Given the description of an element on the screen output the (x, y) to click on. 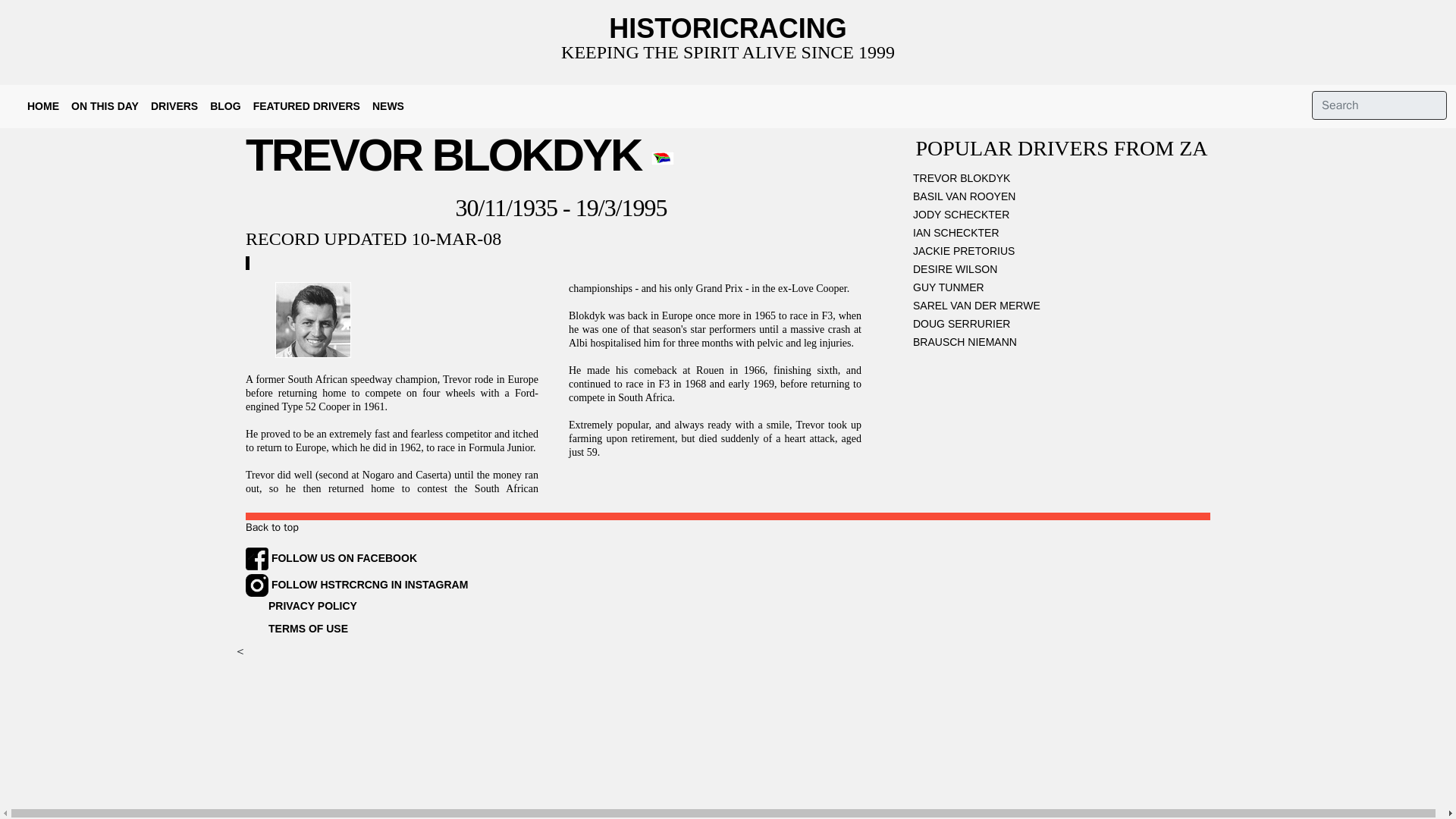
 FOLLOW HSTRCRCNG IN INSTAGRAM (356, 584)
KEEPING THE SPIRIT ALIVE SINCE 1999 (727, 52)
HOME (43, 105)
ON THIS DAY (104, 105)
FEATURED DRIVERS (306, 105)
JACKIE PRETORIUS (1062, 253)
TREVOR BLOKDYK (1062, 180)
GUY TUNMER (1062, 290)
Back to top (272, 526)
JODY SCHECKTER (1062, 217)
